Given the description of an element on the screen output the (x, y) to click on. 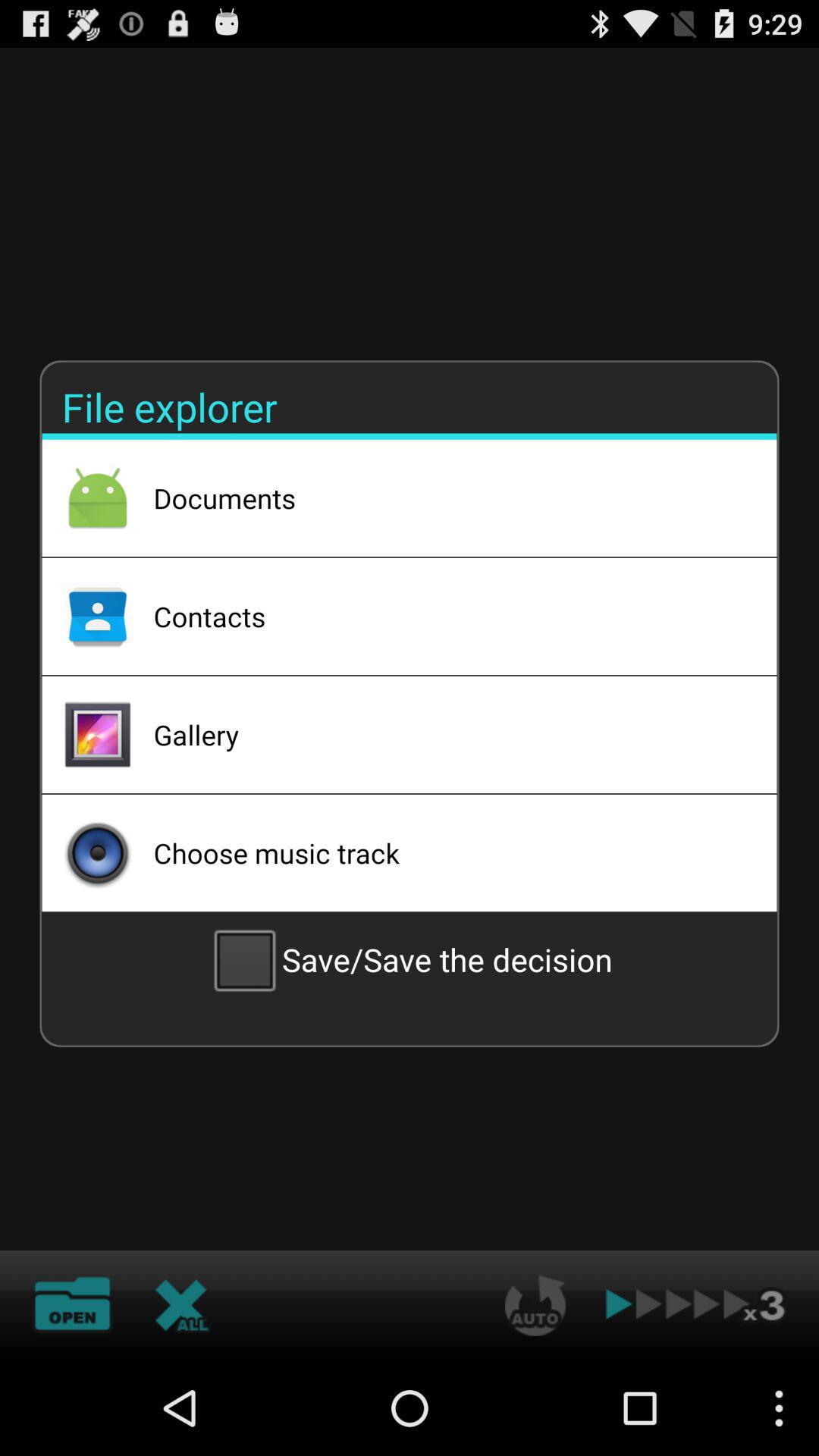
swipe to choose music track item (445, 852)
